Given the description of an element on the screen output the (x, y) to click on. 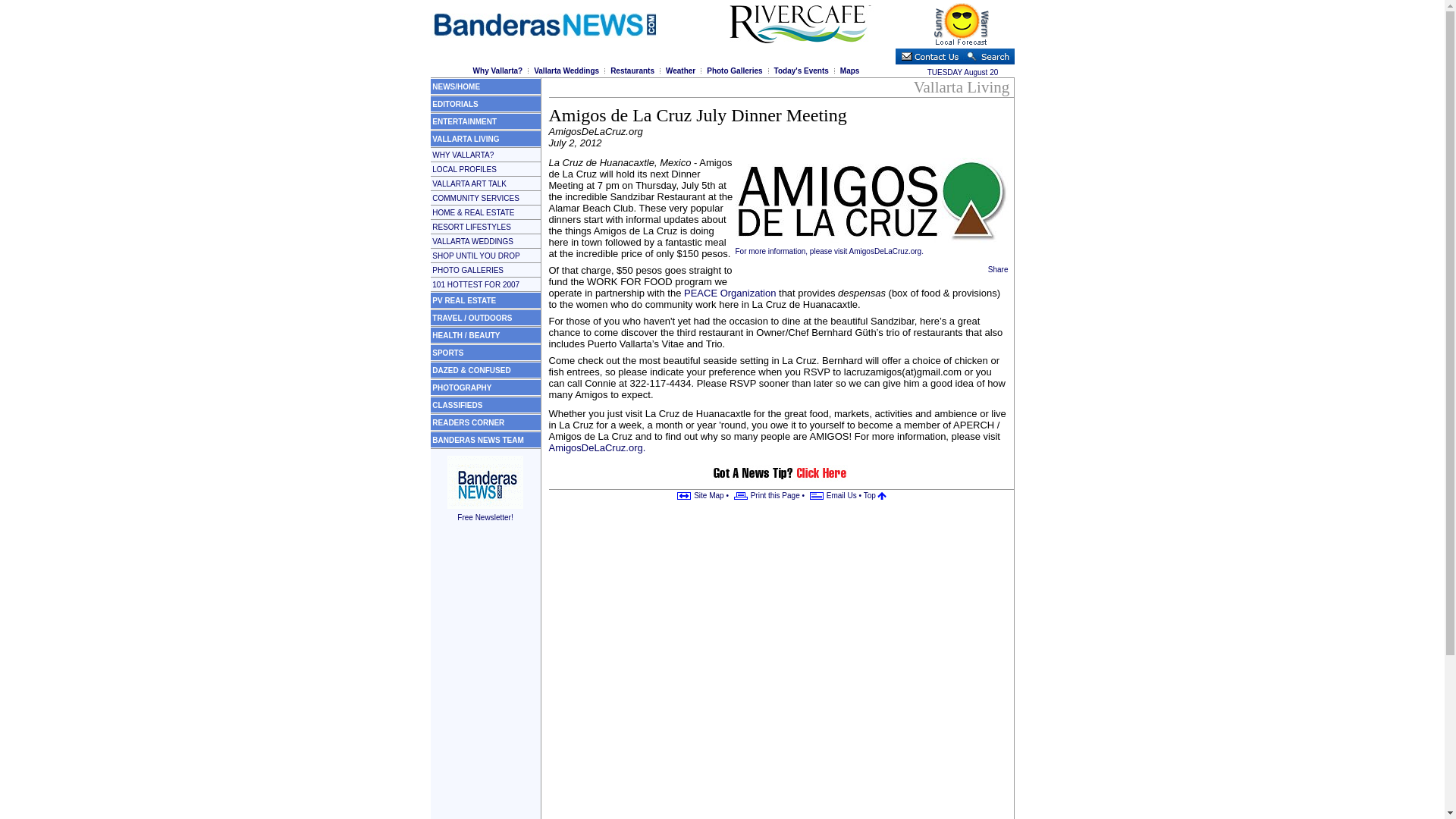
WHY VALLARTA? (462, 153)
Restaurants (631, 70)
Why Vallarta? (497, 70)
VALLARTA ART TALK (469, 183)
RESORT LIFESTYLES (471, 226)
Vallarta Weddings (566, 70)
Weather (680, 70)
Photo Galleries (733, 70)
Share (998, 269)
SPORTS (447, 352)
